Given the description of an element on the screen output the (x, y) to click on. 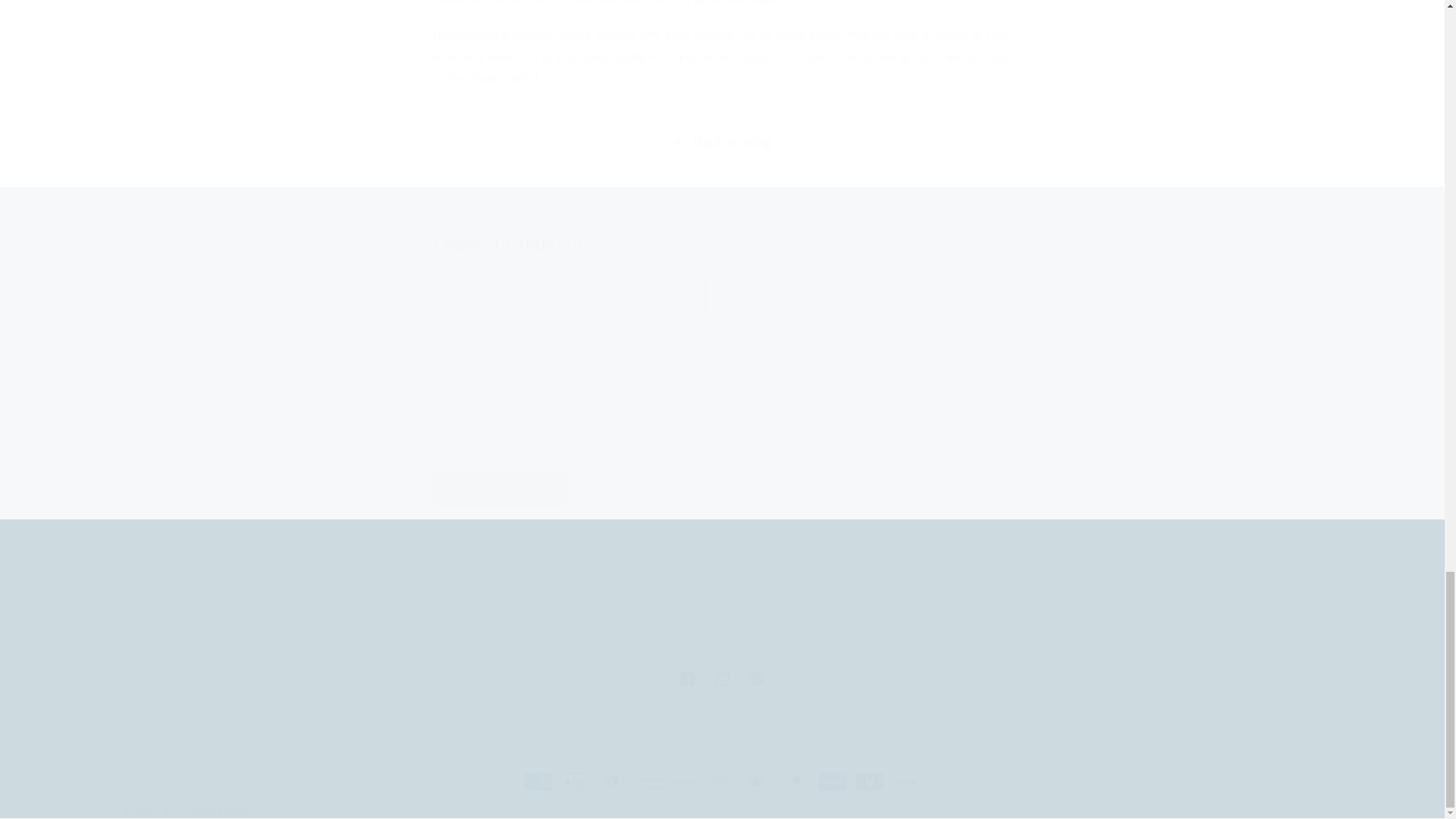
Post comment (722, 678)
